Given the description of an element on the screen output the (x, y) to click on. 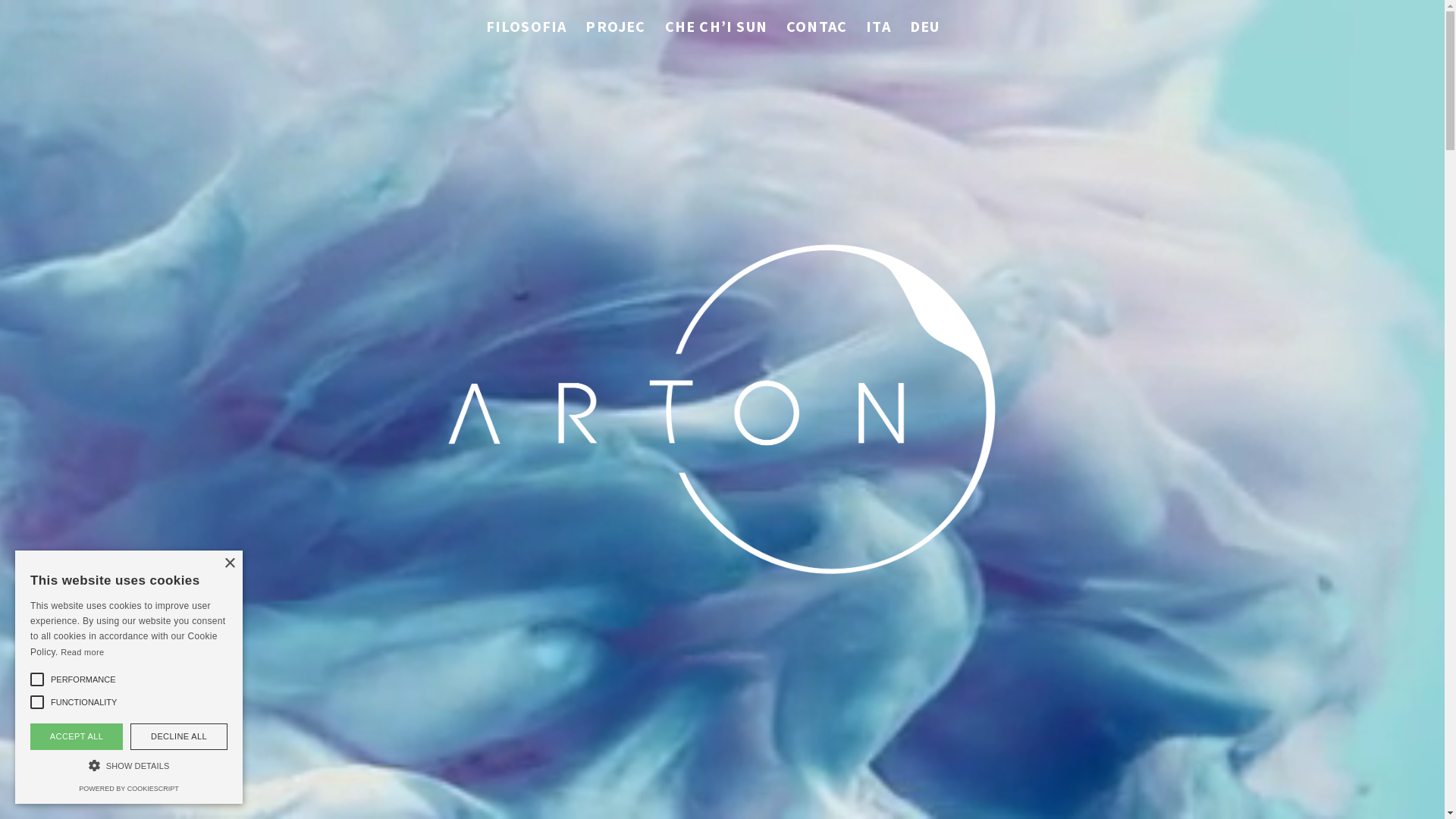
POWERED BY COOKIESCRIPT Element type: text (128, 788)
FILOSOFIA Element type: text (526, 26)
DEU Element type: text (925, 26)
ITA Element type: text (878, 26)
Read more Element type: text (81, 651)
CONTAC Element type: text (816, 26)
PROJEC Element type: text (615, 26)
